Given the description of an element on the screen output the (x, y) to click on. 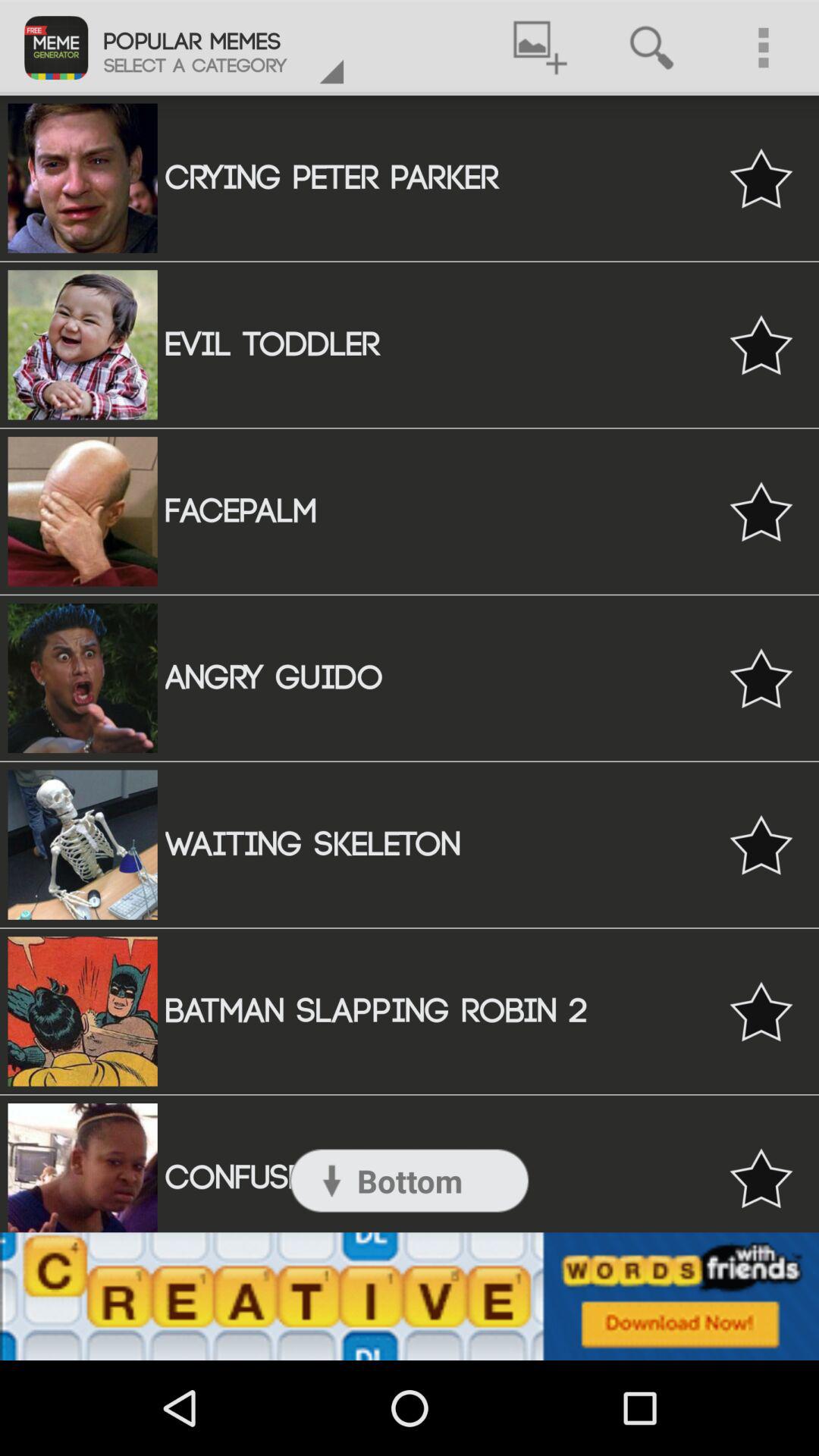
favorite this (761, 844)
